Given the description of an element on the screen output the (x, y) to click on. 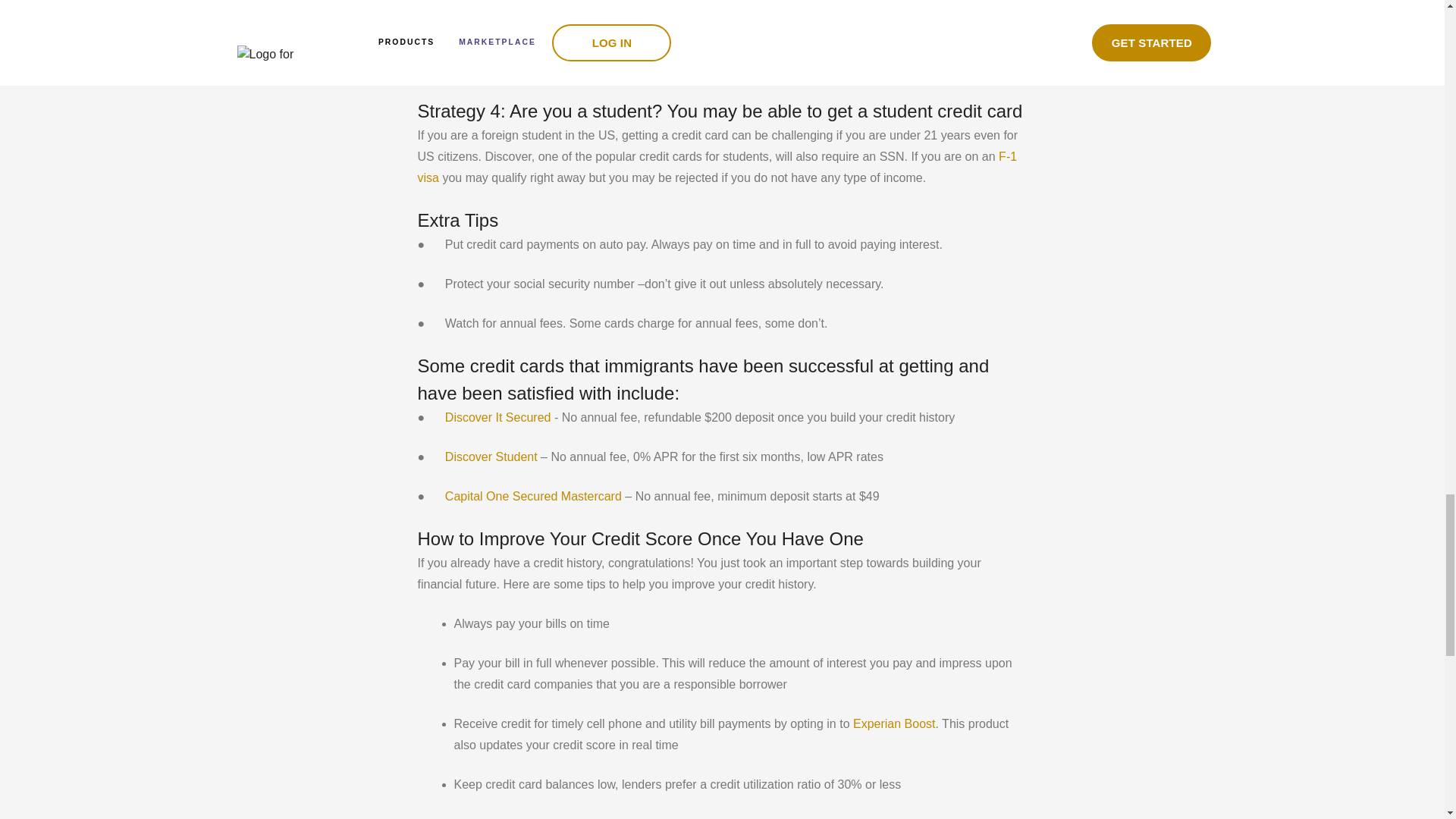
 Discover Student (489, 456)
How Much Will I Pay In Income Tax While Working On An H1B?  (675, 29)
 Experian Boost (893, 723)
 F-1 visa (716, 166)
 Capital One Secured Mastercard (531, 495)
 Discover It Secured (495, 417)
Top 10 Immigrant Tax Mistakes (585, 68)
